Given the description of an element on the screen output the (x, y) to click on. 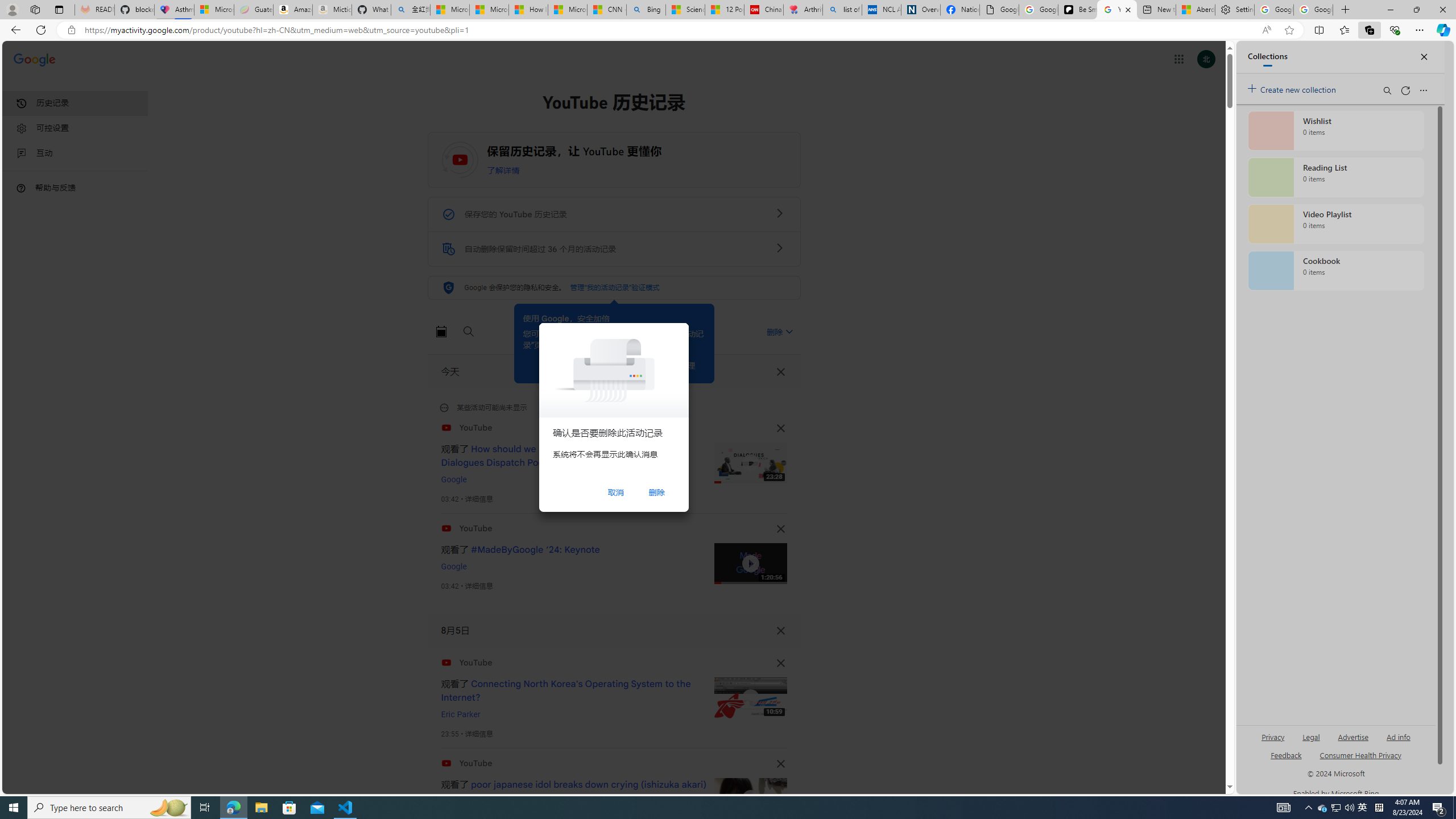
AutomationID: genId96 (1285, 759)
Google Analytics Opt-out Browser Add-on Download Page (999, 9)
